Given the description of an element on the screen output the (x, y) to click on. 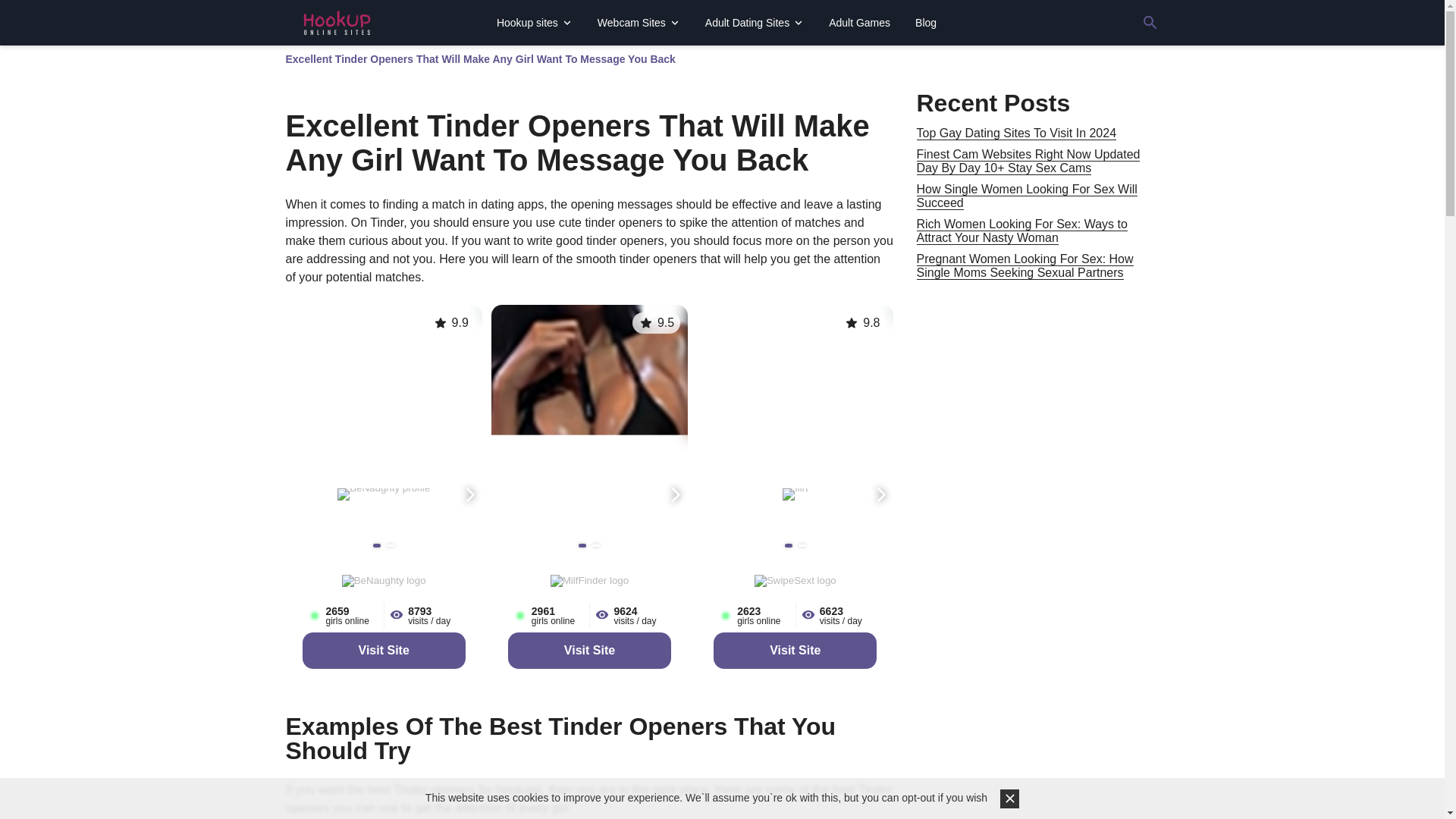
Adult Games (859, 22)
Adult Dating Sites (753, 22)
Hookup sites (534, 22)
Webcam Sites (638, 22)
Blog (925, 22)
